Given the description of an element on the screen output the (x, y) to click on. 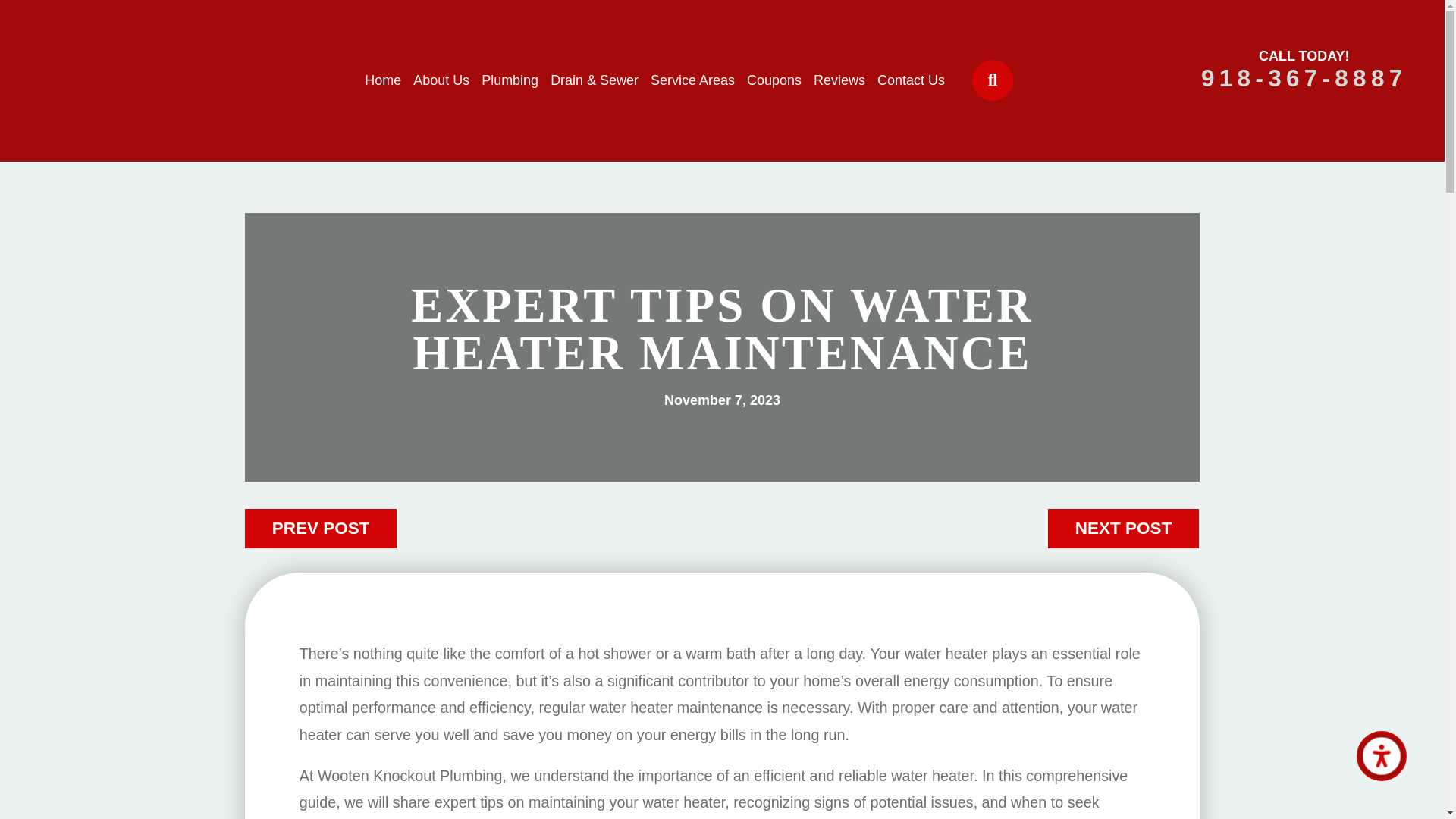
About Us (440, 79)
Open the accessibility options menu (1381, 756)
Plumbing (509, 79)
Contact Us (910, 79)
Service Areas (692, 79)
Coupons (774, 79)
Reviews (838, 79)
Home (383, 79)
